Given the description of an element on the screen output the (x, y) to click on. 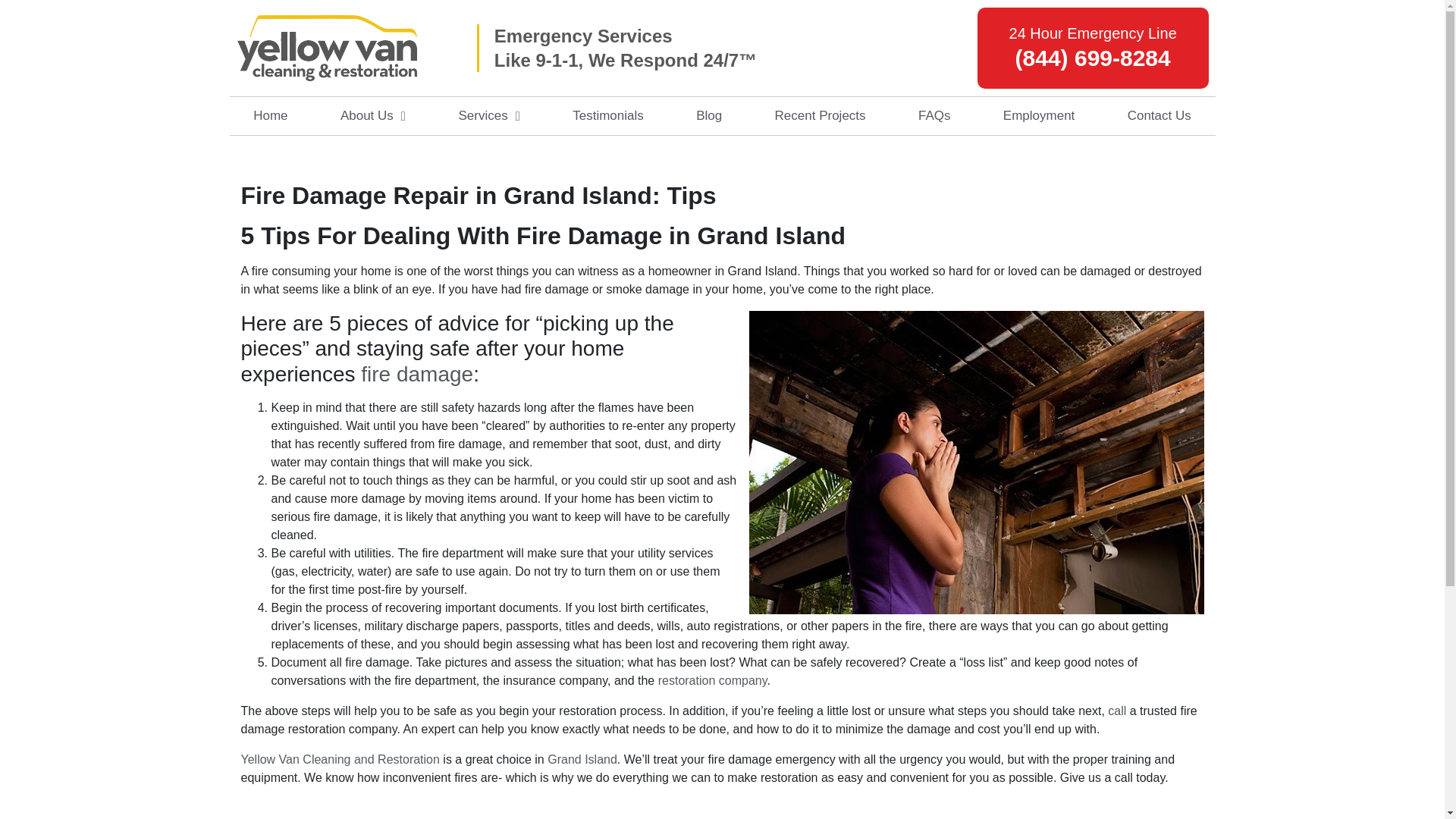
Contact Us (1158, 116)
Home (269, 116)
FAQs (933, 116)
About Us (372, 116)
Services (488, 116)
Testimonials (608, 116)
Recent Projects (820, 116)
Blog (708, 116)
Employment (1038, 116)
